Given the description of an element on the screen output the (x, y) to click on. 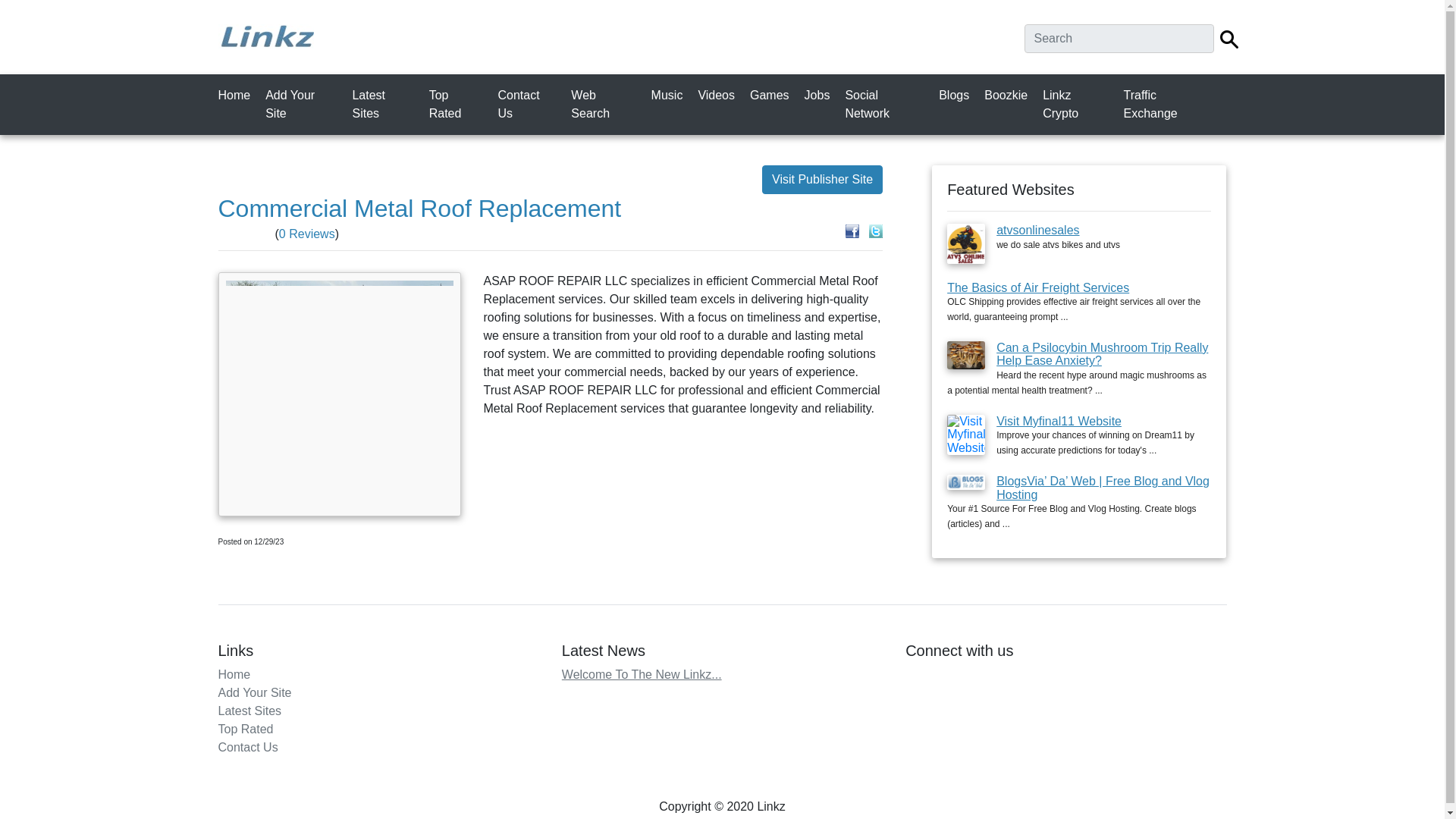
Social Network (887, 104)
Latest Sites (250, 710)
Top Rated (459, 104)
Visit Myfinal11 Website (1058, 420)
Games (771, 95)
Jobs (820, 95)
Blogs (957, 95)
The Basics of Air Freight Services (1038, 286)
Add Your Site (255, 692)
0 Reviews (306, 233)
